Given the description of an element on the screen output the (x, y) to click on. 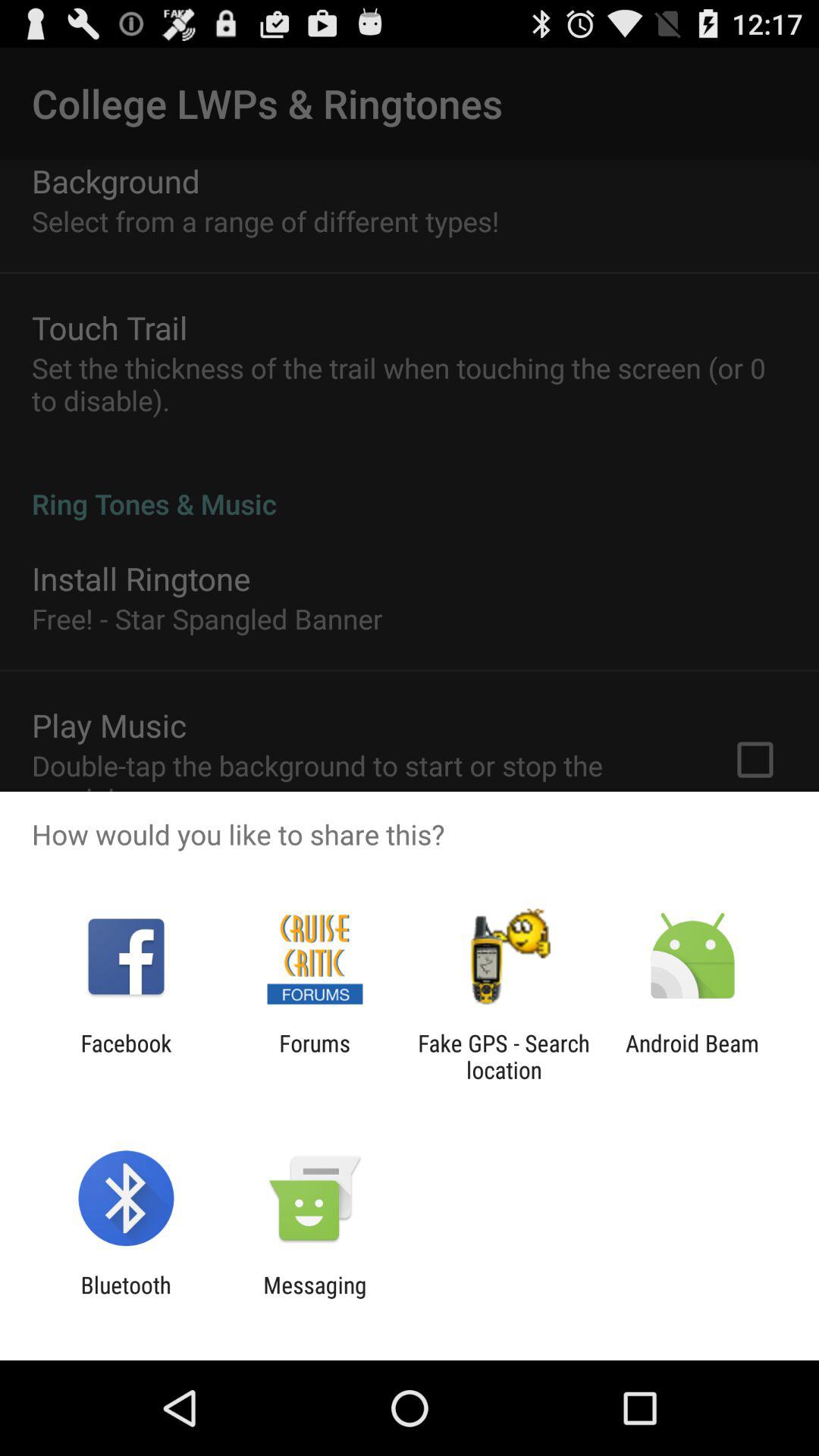
click the icon next to forums icon (125, 1056)
